Given the description of an element on the screen output the (x, y) to click on. 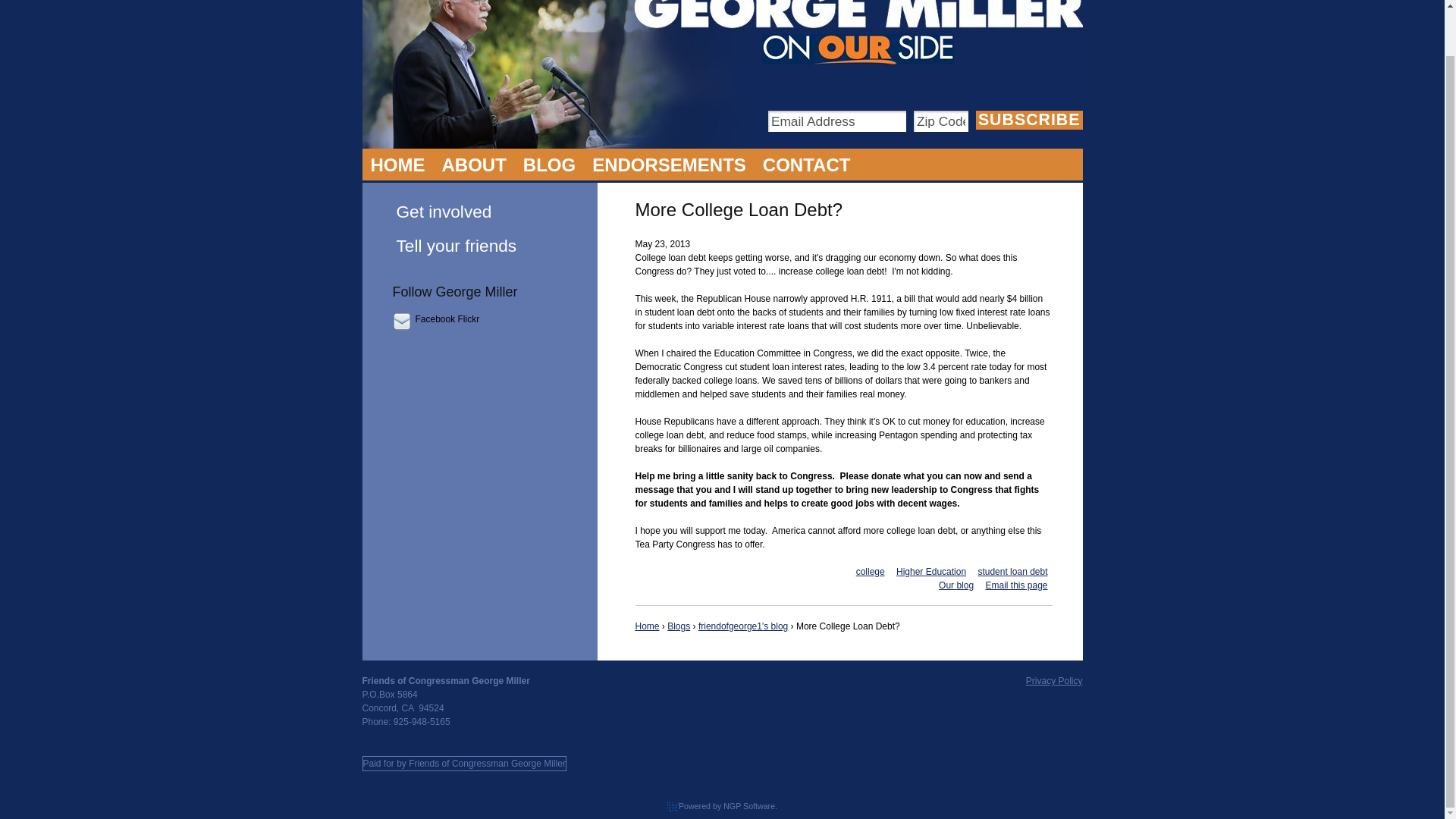
Home (646, 625)
HOME (397, 164)
friendofgeorge1's blog (742, 625)
George Miller for Congress (858, 32)
George Miller (474, 164)
Subscribe (1029, 119)
Privacy Policy (1054, 680)
Our blog (956, 584)
Tell your friends (480, 245)
Blogs (678, 625)
